Given the description of an element on the screen output the (x, y) to click on. 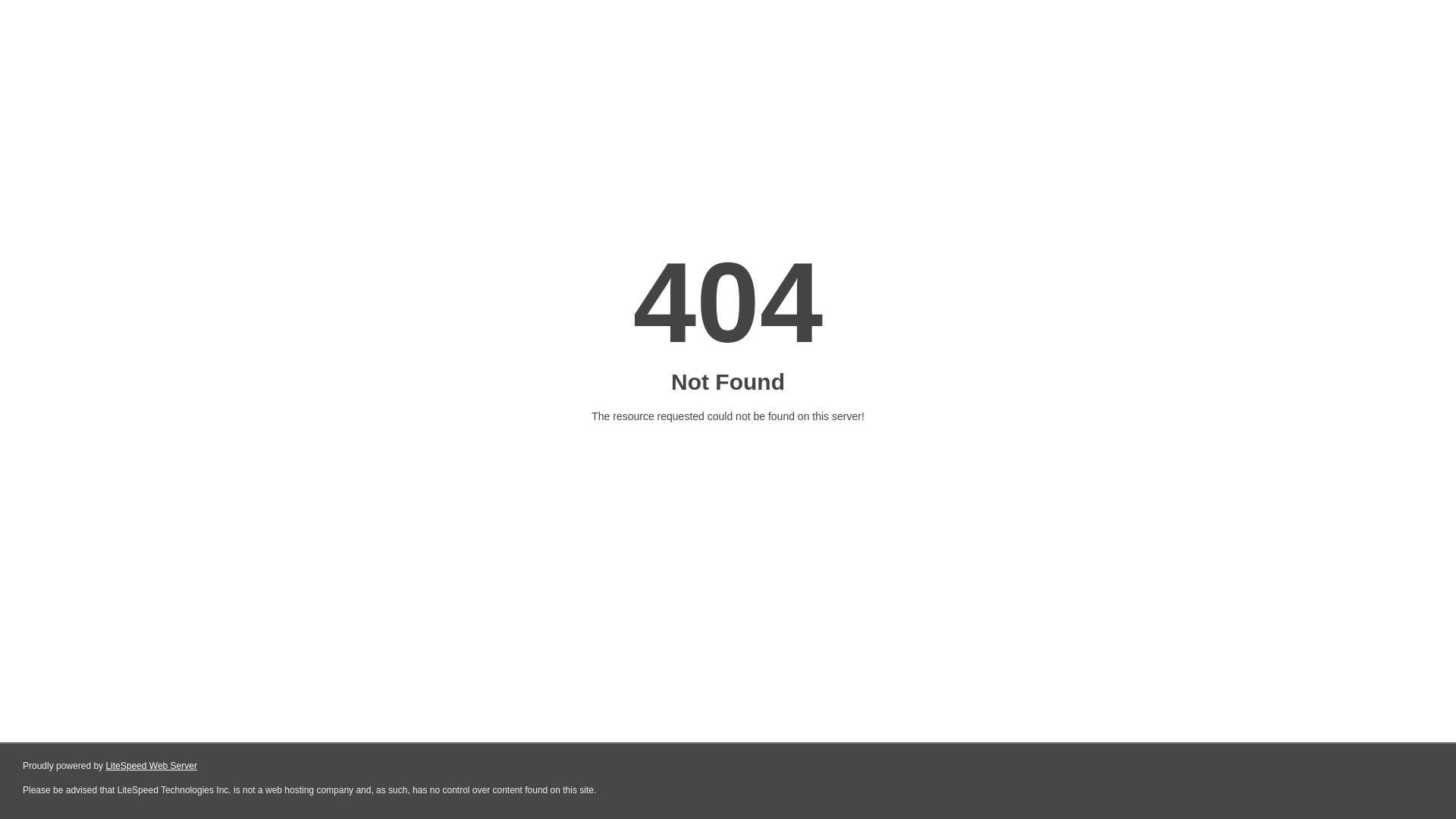
LiteSpeed Web Server Element type: text (151, 765)
